Given the description of an element on the screen output the (x, y) to click on. 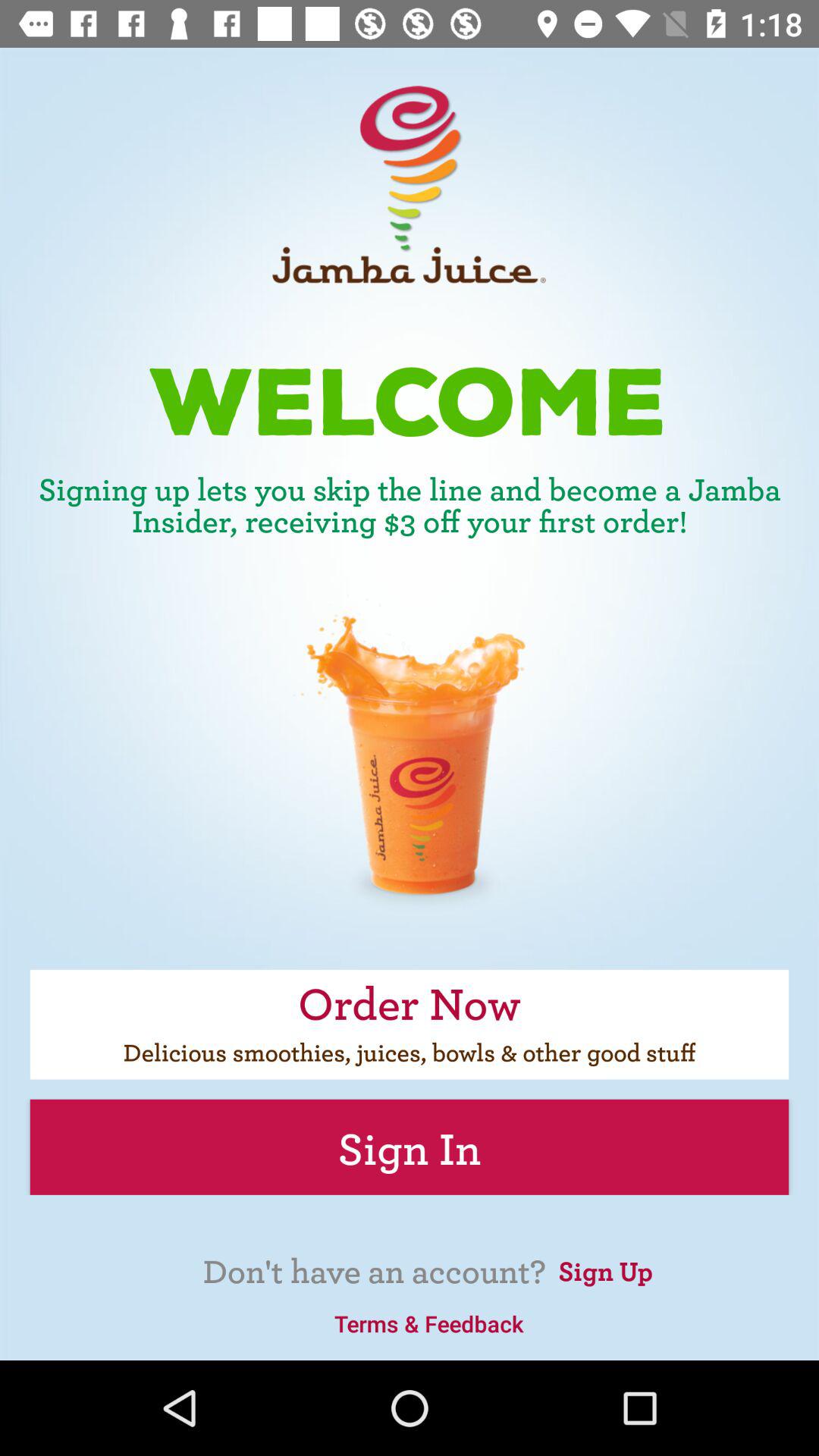
turn off the icon to the right of the don t have item (605, 1268)
